Given the description of an element on the screen output the (x, y) to click on. 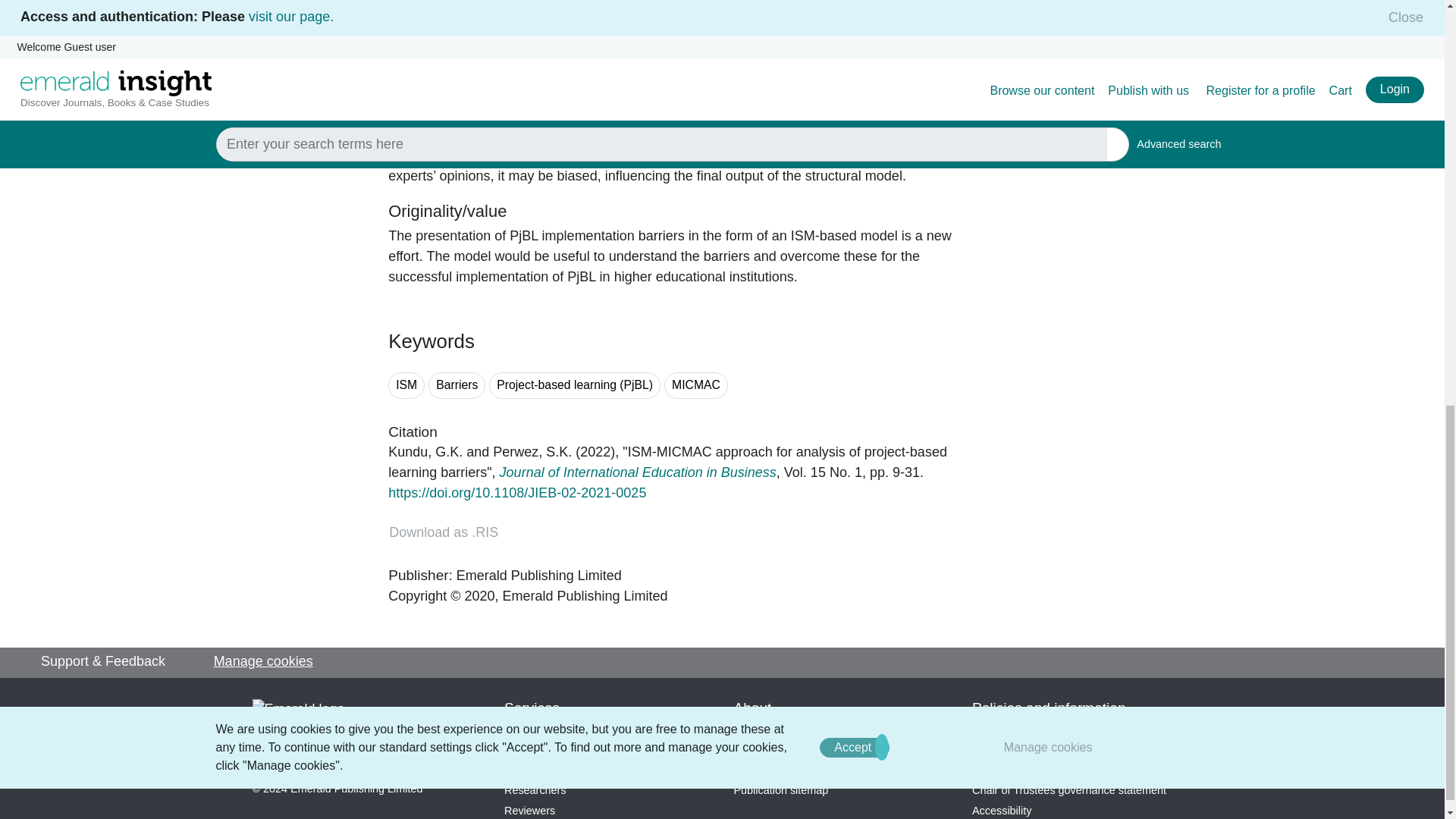
Search for keyword MICMAC (695, 385)
Search for keyword Barriers (456, 385)
Search for keyword ISM (406, 385)
Syed Khalid Perwez (532, 451)
Goutam Kumar Kundu (425, 451)
